Given the description of an element on the screen output the (x, y) to click on. 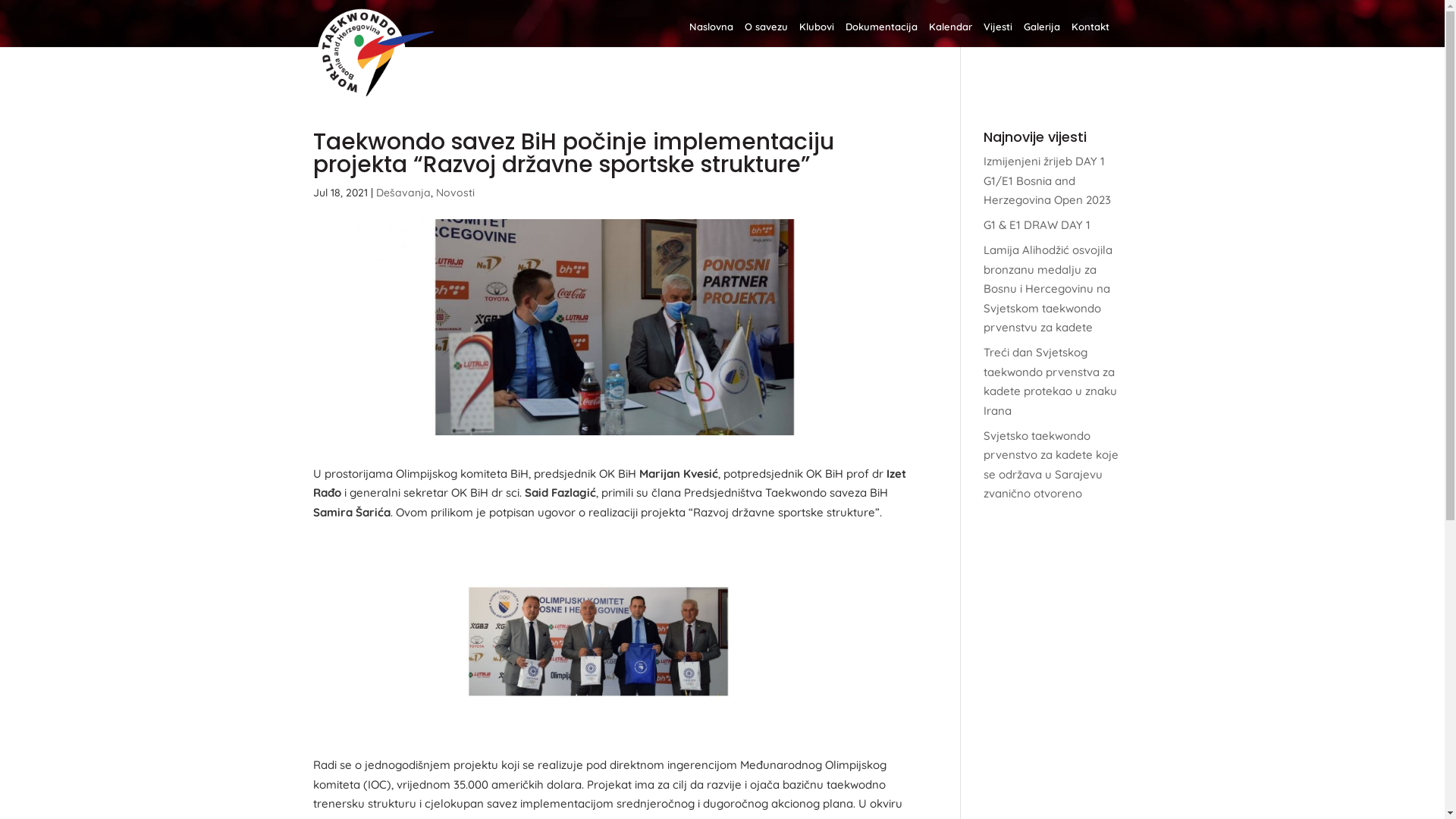
O savezu Element type: text (765, 34)
Vijesti Element type: text (996, 34)
Kontakt Element type: text (1089, 34)
G1 & E1 DRAW DAY 1 Element type: text (1036, 224)
Naslovna Element type: text (710, 34)
Galerija Element type: text (1041, 34)
Dokumentacija Element type: text (880, 34)
Kalendar Element type: text (949, 34)
Klubovi Element type: text (816, 34)
Novosti Element type: text (454, 192)
